Given the description of an element on the screen output the (x, y) to click on. 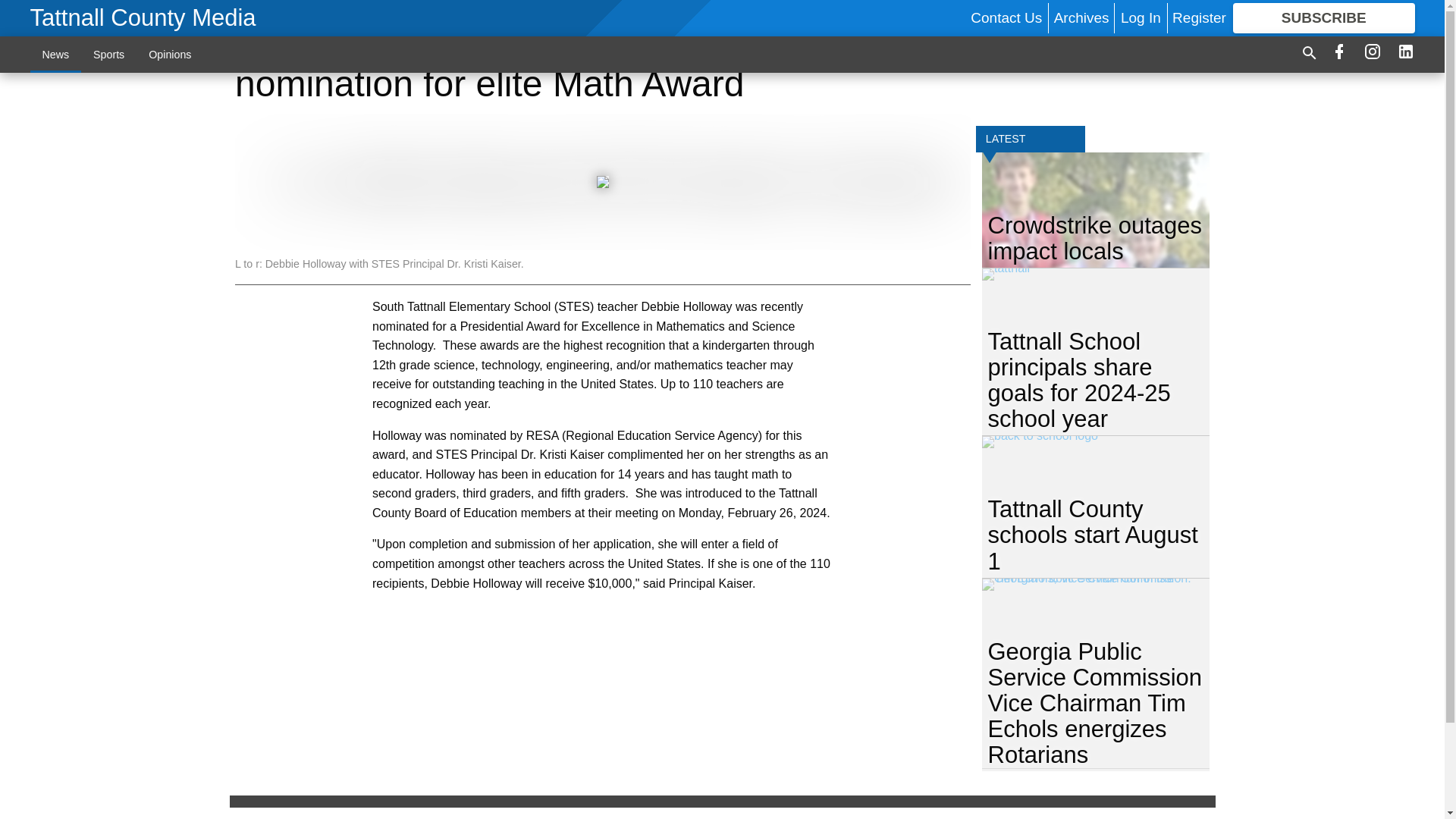
News (55, 54)
SUBSCRIBE (1324, 18)
Tattnall County Media (143, 17)
Sports (108, 54)
Opinions (169, 54)
Register (1198, 17)
Log In (1140, 17)
Archives (1081, 17)
Contact Us (1006, 17)
